Given the description of an element on the screen output the (x, y) to click on. 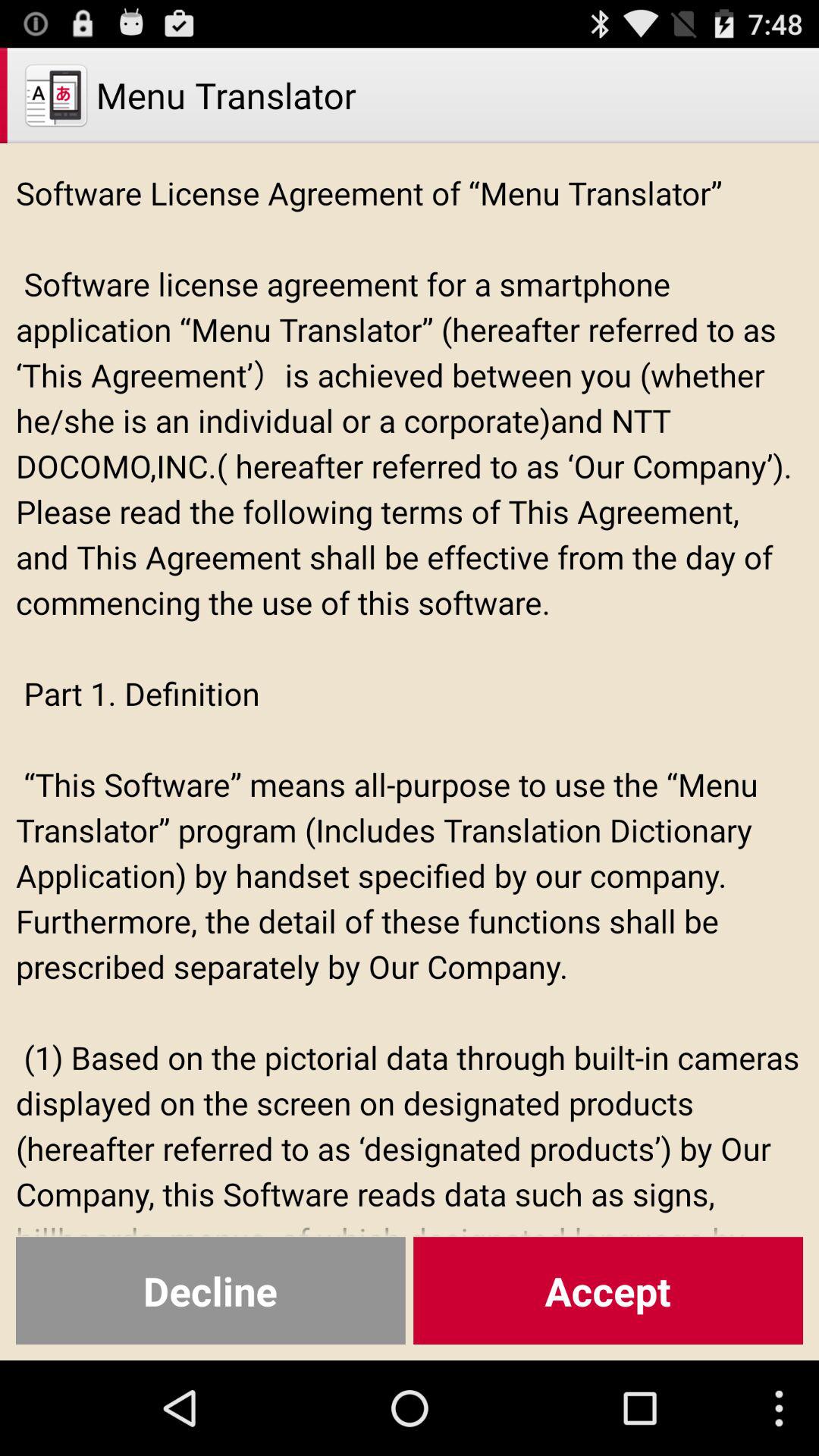
click item next to decline button (608, 1290)
